Given the description of an element on the screen output the (x, y) to click on. 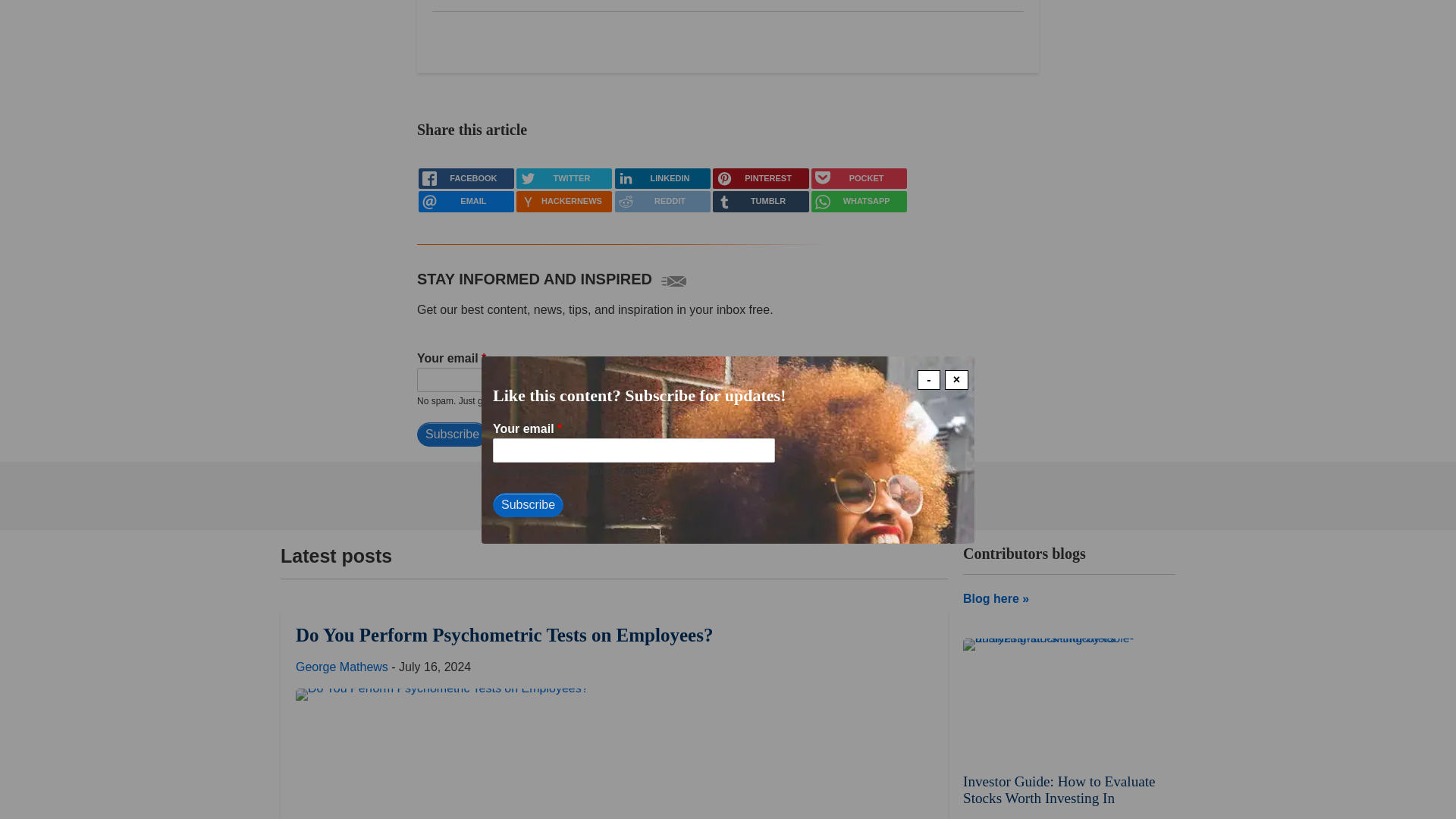
Subscribe (451, 434)
